Given the description of an element on the screen output the (x, y) to click on. 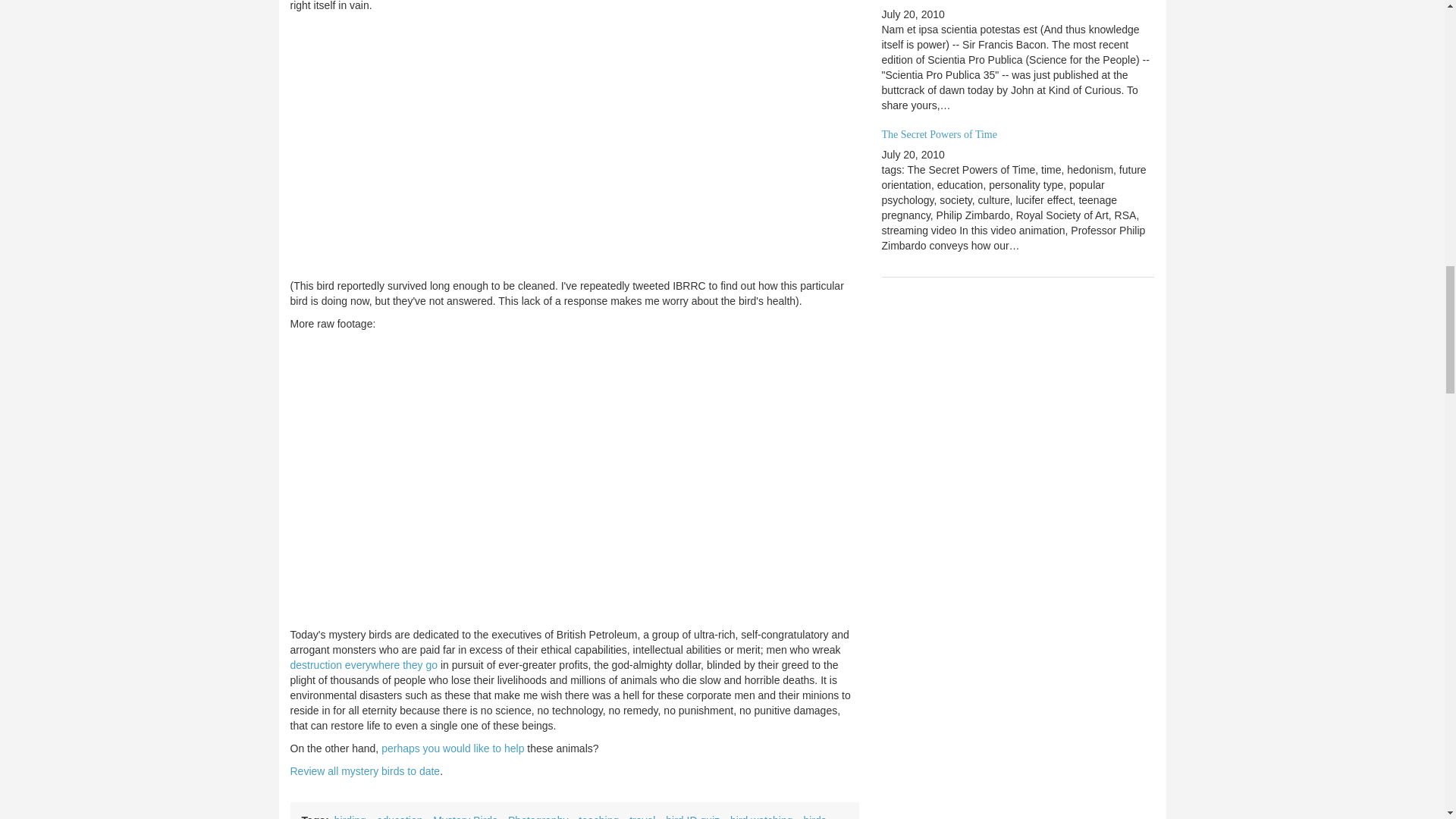
perhaps you would like to help (452, 748)
Review all mystery birds to date (364, 770)
education (400, 816)
birding (350, 816)
destruction everywhere they go (363, 664)
